Given the description of an element on the screen output the (x, y) to click on. 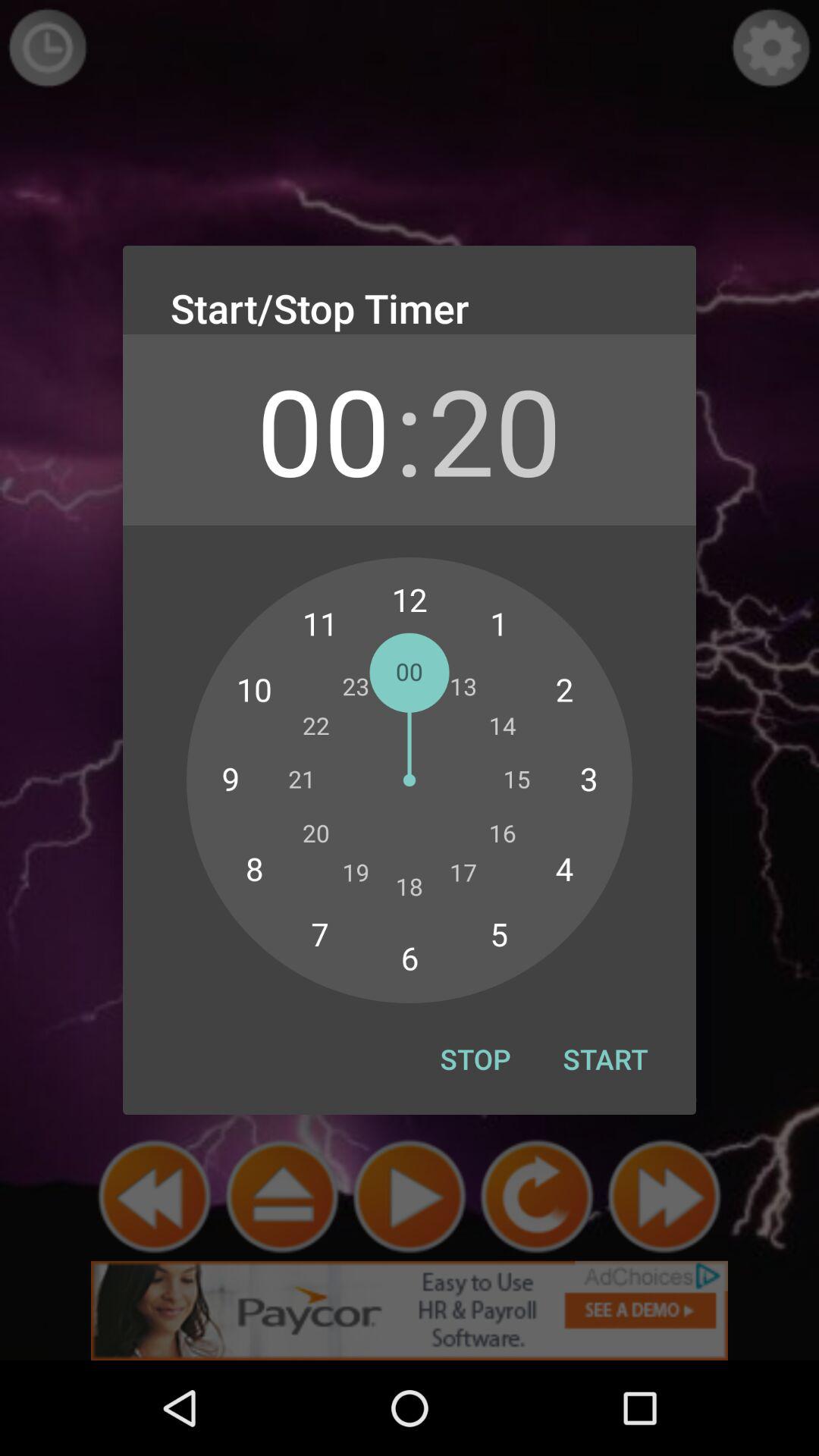
press the item below start/stop timer icon (494, 429)
